Given the description of an element on the screen output the (x, y) to click on. 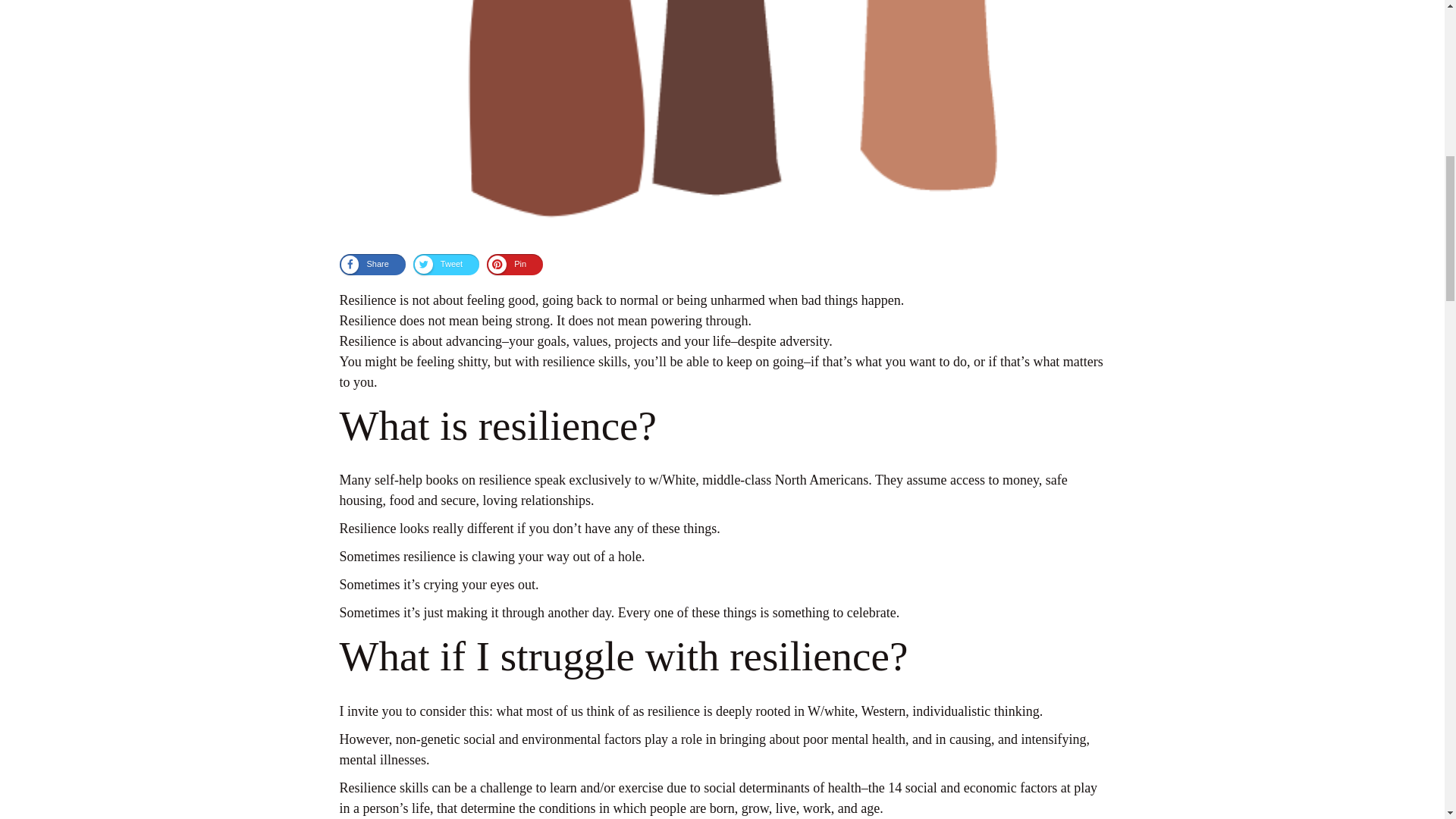
Share (372, 264)
Tweet (446, 264)
Pin (514, 264)
